Given the description of an element on the screen output the (x, y) to click on. 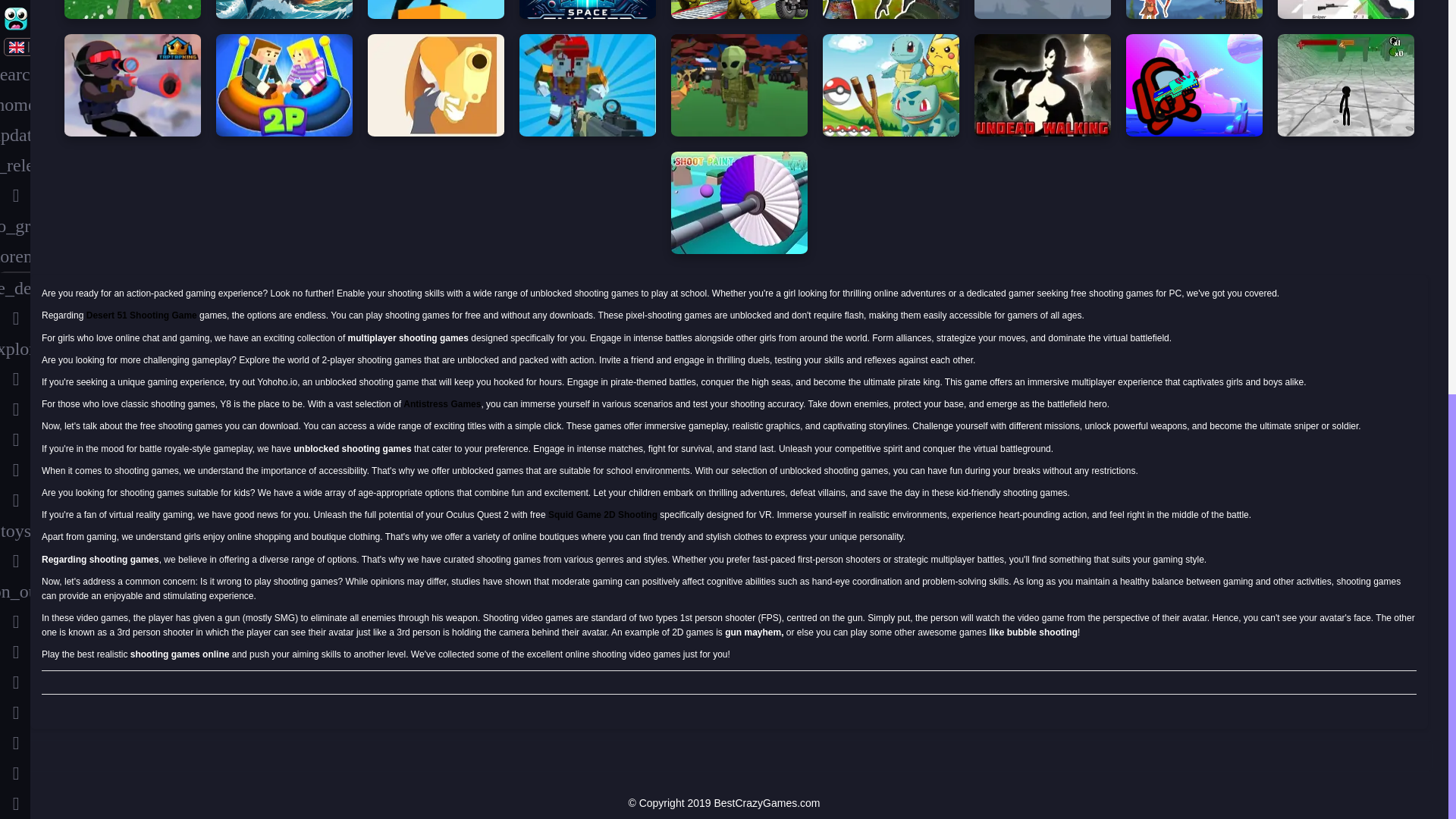
fort (15, 226)
tag (15, 440)
motorcycle (15, 378)
